Given the description of an element on the screen output the (x, y) to click on. 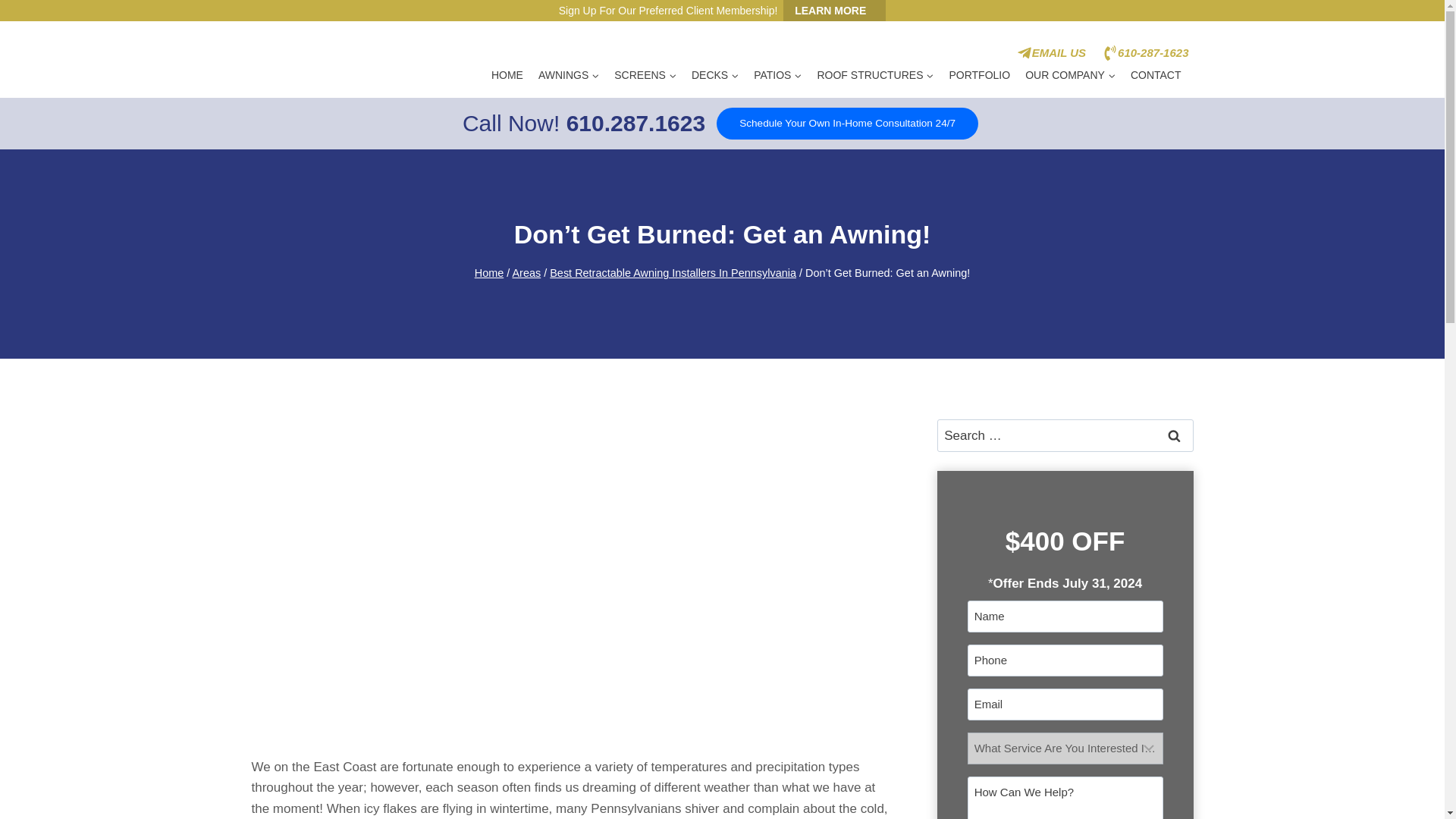
PATIOS (777, 75)
Search (1174, 435)
PORTFOLIO (978, 75)
ROOF STRUCTURES (874, 75)
610-287-1623 (1145, 52)
AWNINGS (569, 75)
EMAIL US (1051, 52)
Search (1174, 435)
DECKS (714, 75)
HOME (507, 75)
LEARN MORE (834, 10)
SCREENS (645, 75)
